Given the description of an element on the screen output the (x, y) to click on. 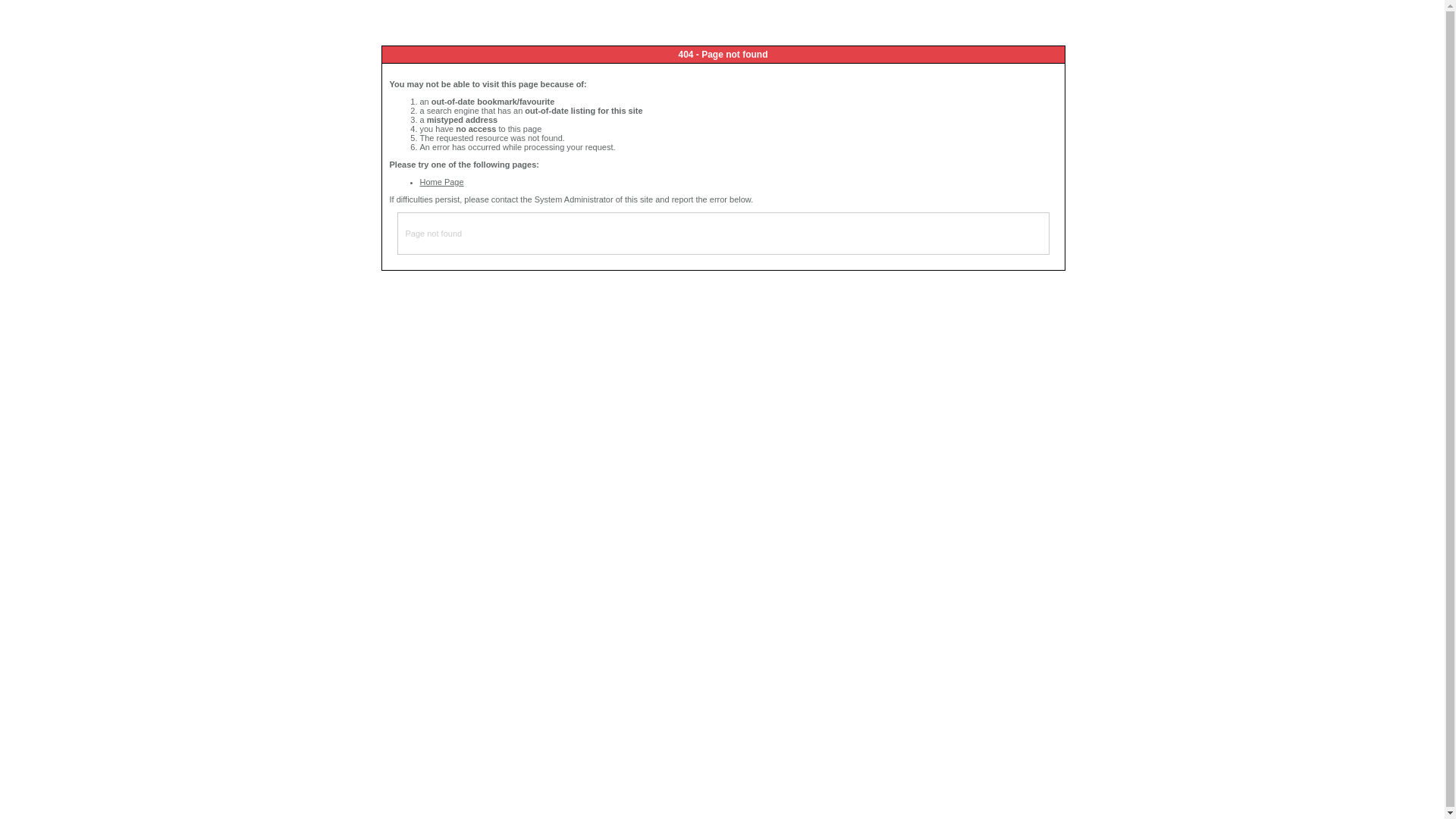
Home Page Element type: text (442, 181)
